Given the description of an element on the screen output the (x, y) to click on. 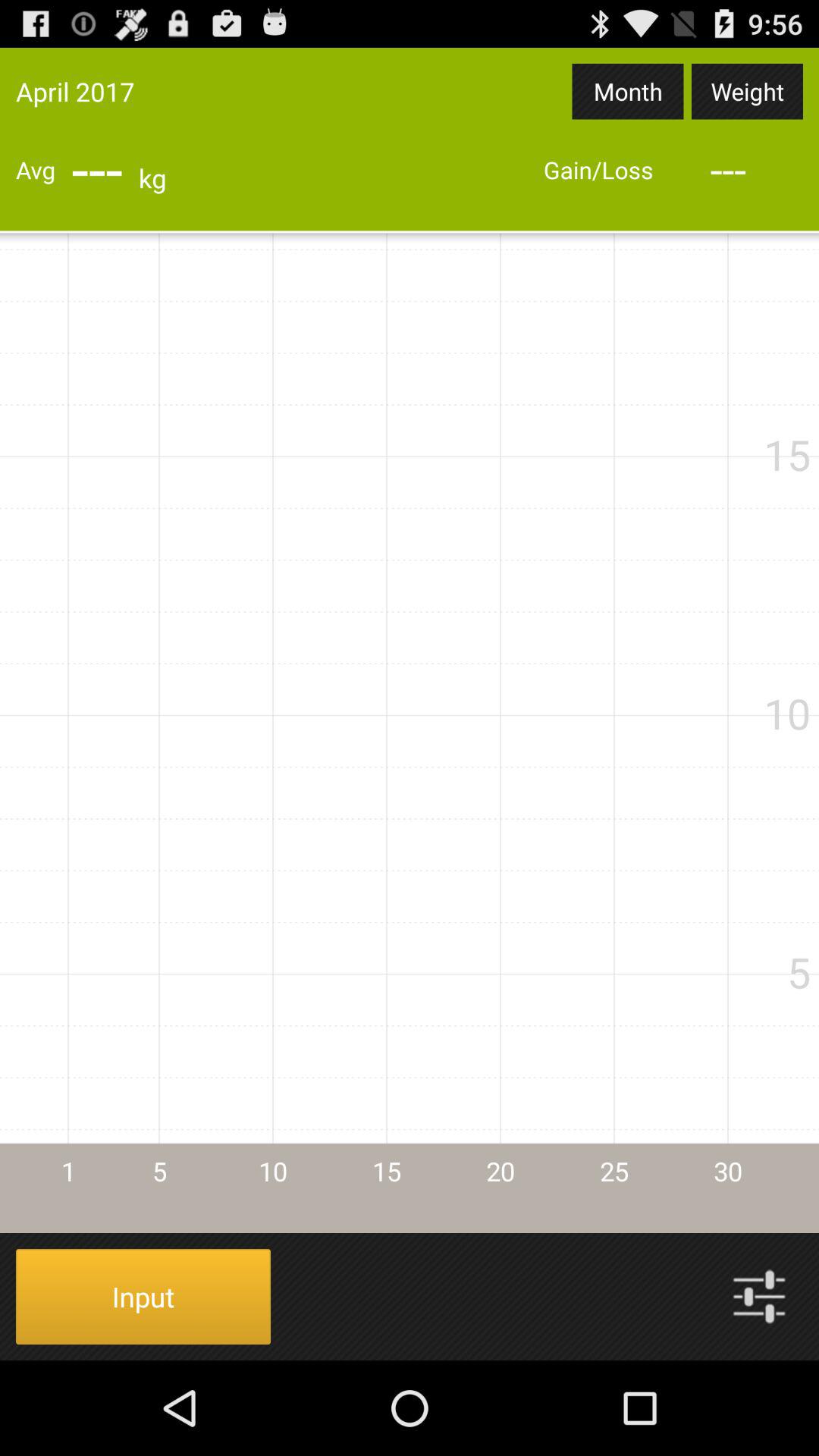
click the icon above --- (627, 91)
